Given the description of an element on the screen output the (x, y) to click on. 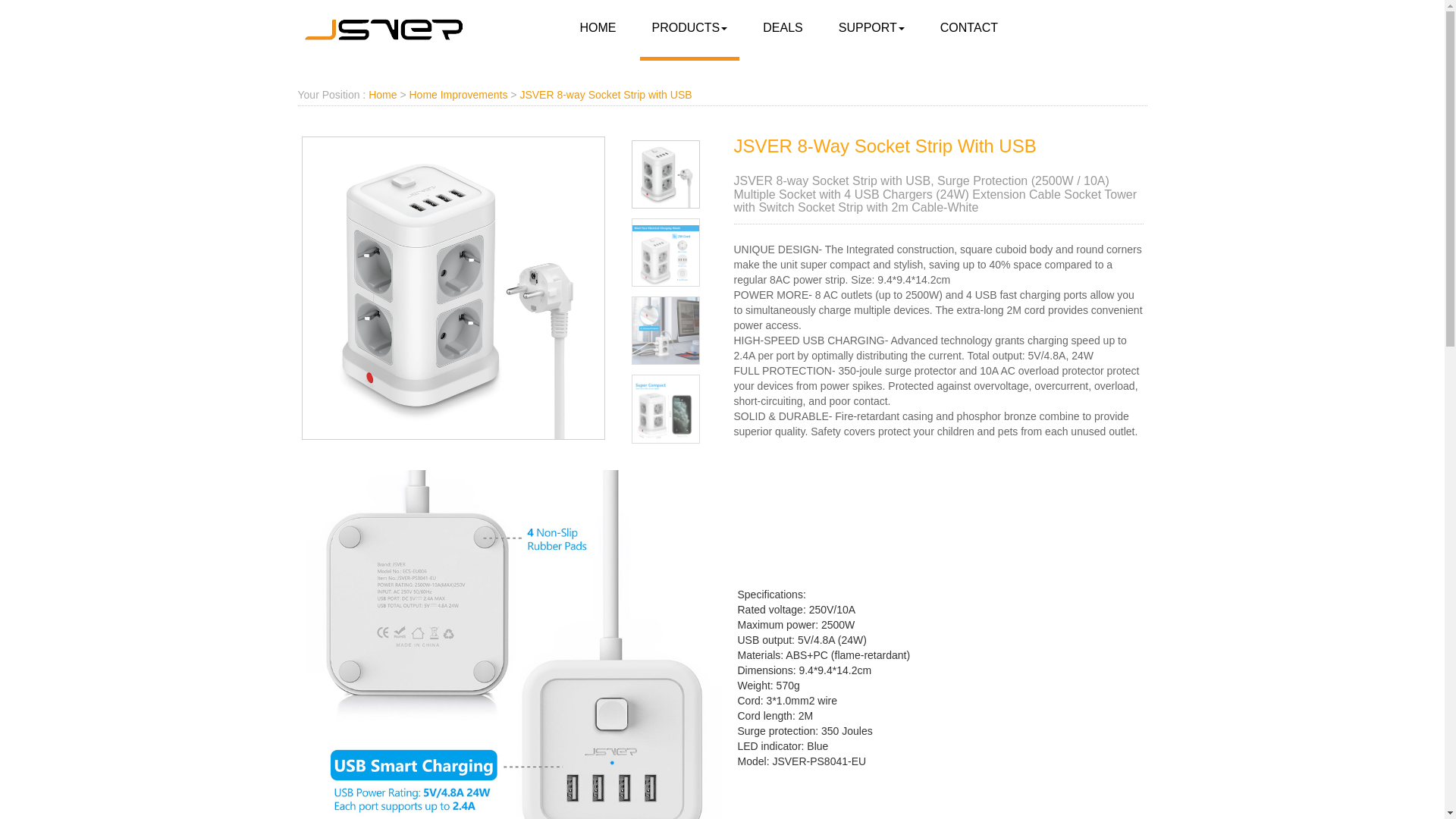
Home (382, 94)
PRODUCTS (689, 28)
HOME (597, 28)
CONTACT (969, 28)
JSVER 8-way Socket Strip with USB (605, 94)
SUPPORT (872, 28)
DEALS (782, 28)
Home Improvements (457, 94)
